Given the description of an element on the screen output the (x, y) to click on. 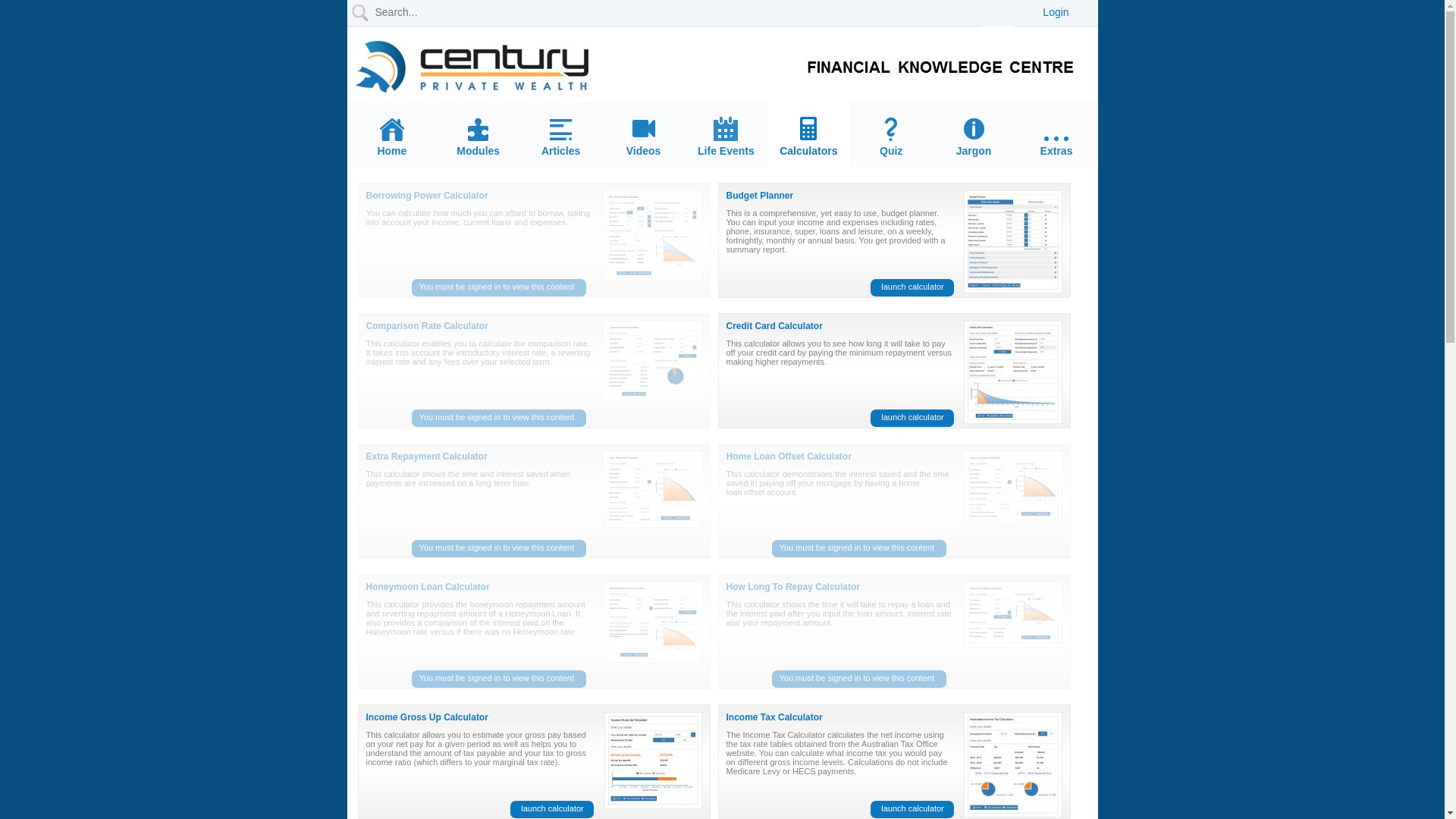
How Long To Repay Calculator Element type: text (792, 586)
Extra Repayment Calculator Element type: text (425, 456)
Videos Element type: text (643, 136)
launch calculator Element type: text (911, 809)
Income Tax Calculator Element type: text (774, 717)
Modules Element type: text (477, 136)
launch calculator Element type: text (551, 809)
Borrowing Power Calculator Element type: text (426, 195)
Life Events Element type: text (725, 136)
You must be signed in to view this content Element type: text (858, 678)
You must be signed in to view this content Element type: text (498, 678)
Income Gross Up Calculator Element type: text (426, 717)
You must be signed in to view this content Element type: text (498, 417)
Quiz Element type: text (891, 136)
Comparison Rate Calculator Element type: text (426, 325)
launch calculator Element type: text (911, 417)
You must be signed in to view this content Element type: text (498, 287)
Extras Element type: text (1056, 146)
Budget Planner Element type: text (759, 195)
Calculators Element type: text (808, 136)
Jargon Element type: text (973, 136)
Home Loan Offset Calculator Element type: text (788, 456)
launch calculator Element type: text (911, 287)
Credit Card Calculator Element type: text (774, 325)
Honeymoon Loan Calculator Element type: text (427, 586)
You must be signed in to view this content Element type: text (498, 548)
Home Element type: text (392, 136)
Articles Element type: text (560, 137)
You must be signed in to view this content Element type: text (858, 548)
